Given the description of an element on the screen output the (x, y) to click on. 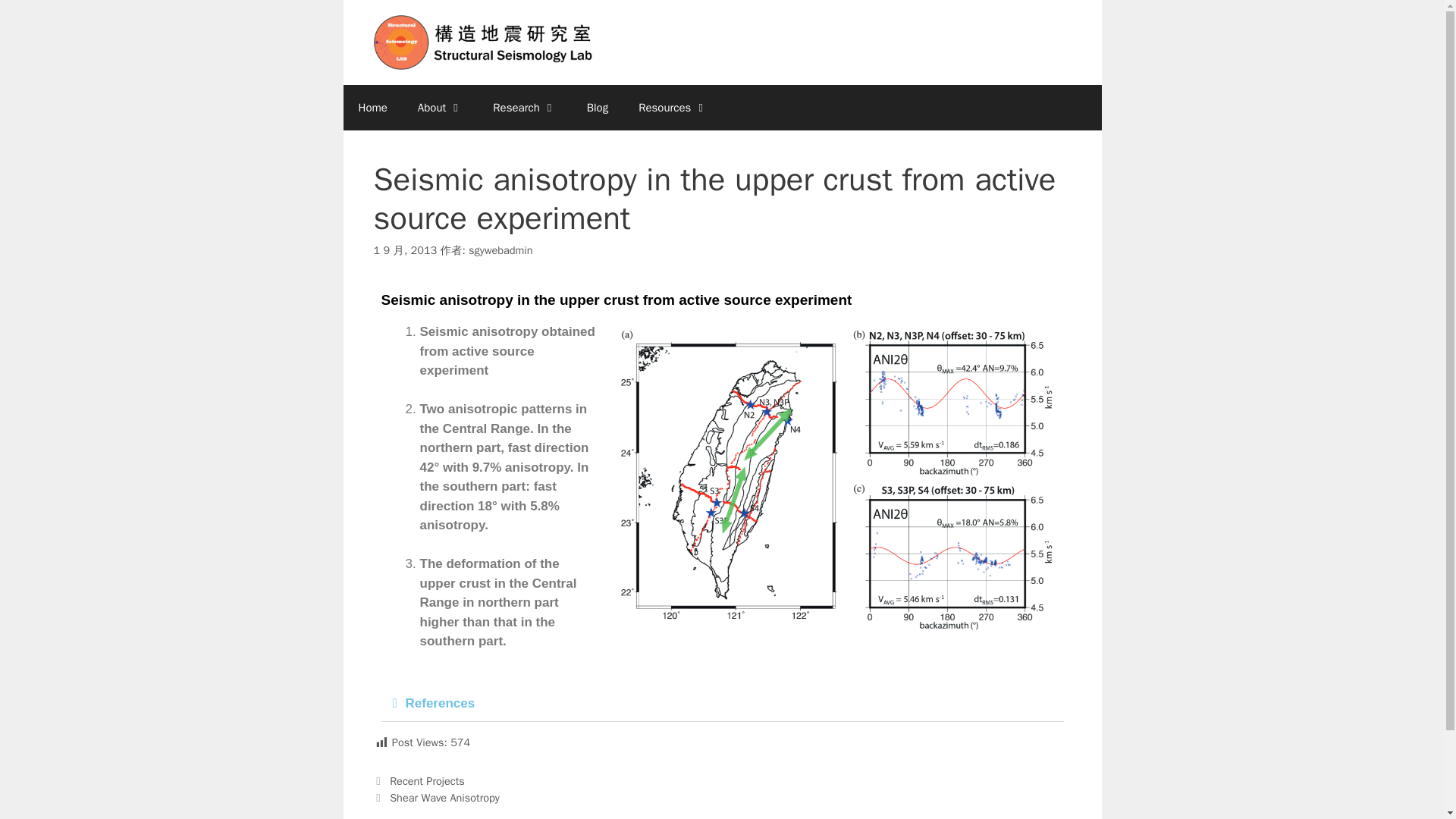
Resources (672, 107)
Home (371, 107)
Blog (597, 107)
Shear Wave Anisotropy (444, 796)
sgywebadmin (500, 250)
About (440, 107)
Recent Projects (427, 780)
Research (523, 107)
References (439, 703)
